Given the description of an element on the screen output the (x, y) to click on. 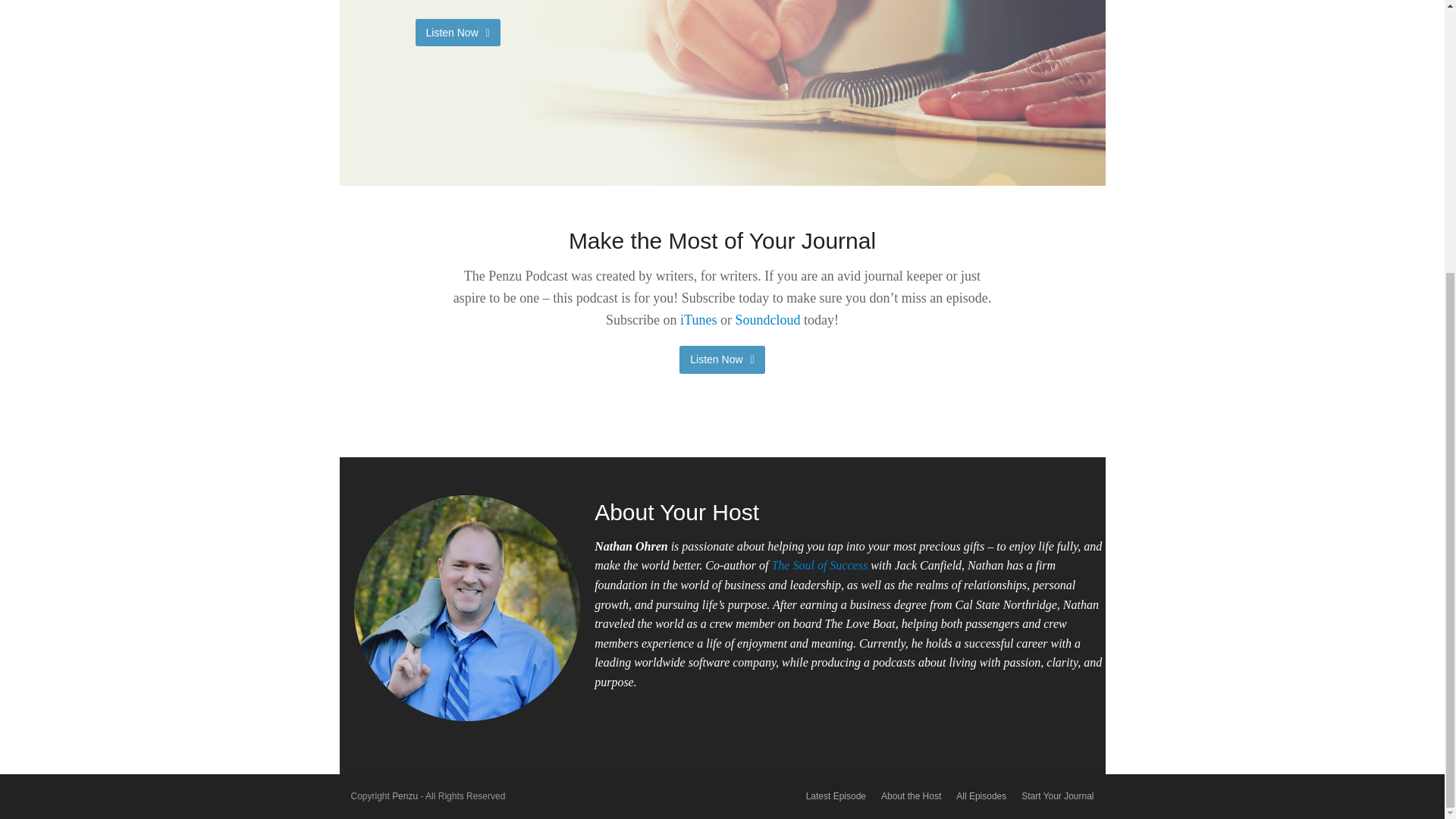
About the Host (910, 796)
Soundcloud (767, 319)
Start Your Journal (1057, 796)
All Episodes (981, 796)
The Soul of Success (819, 564)
iTunes (697, 319)
Latest Episode (836, 796)
Visit Site (721, 359)
Visit Site (457, 31)
Listen Now (721, 359)
